Given the description of an element on the screen output the (x, y) to click on. 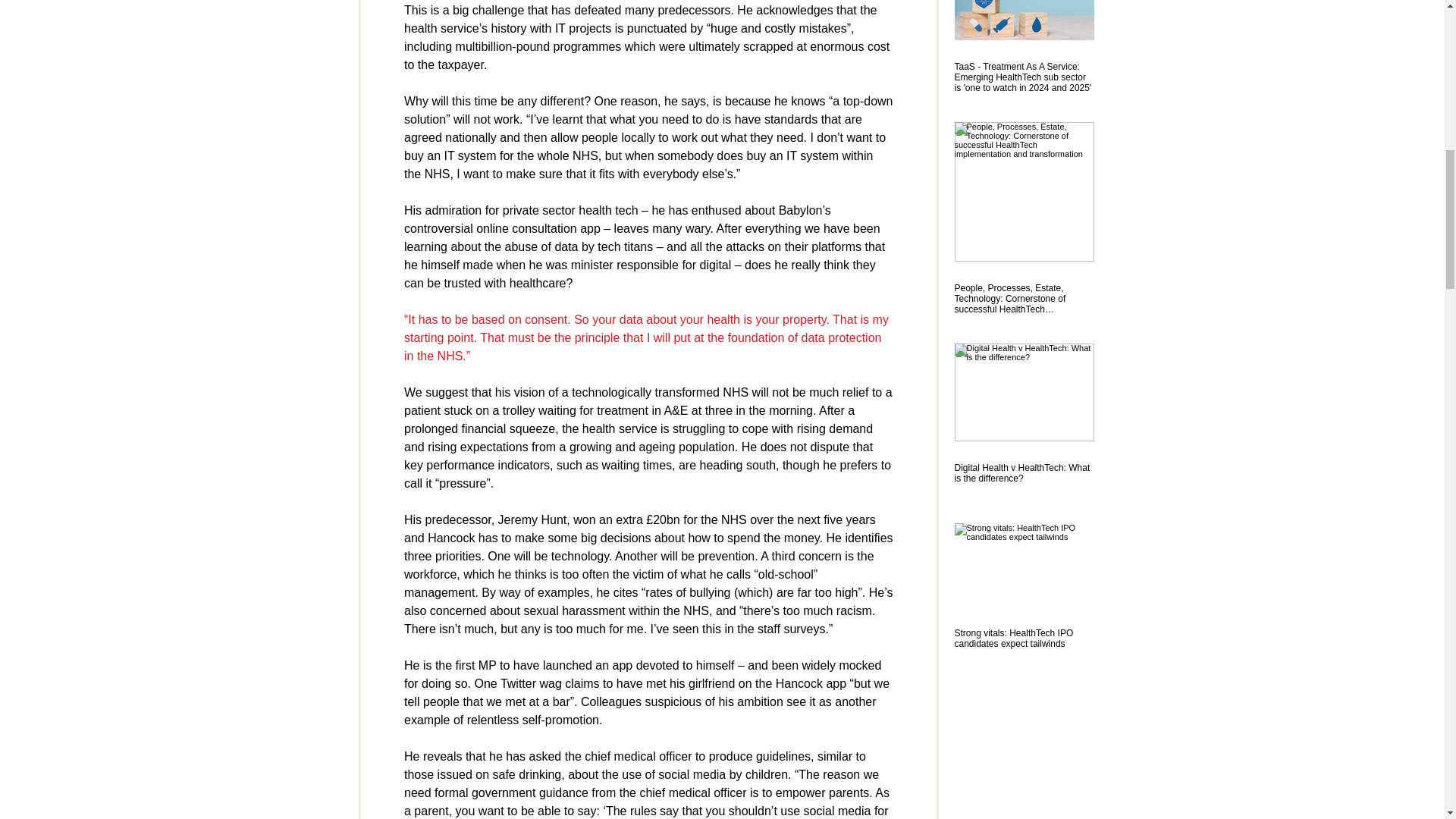
Digital Health v HealthTech: What is the difference? (1023, 473)
Strong vitals: HealthTech IPO candidates expect tailwinds (1023, 638)
